Given the description of an element on the screen output the (x, y) to click on. 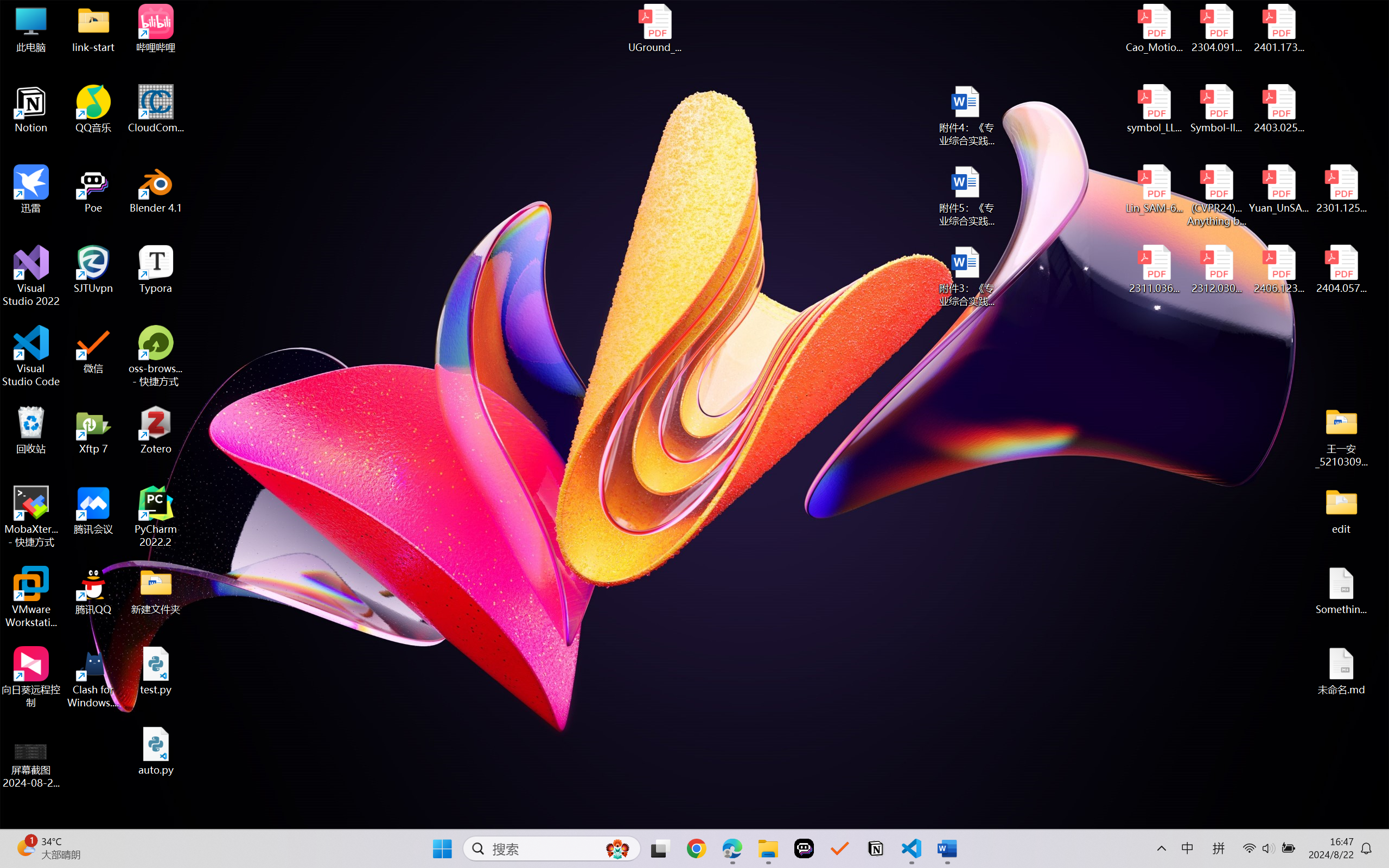
Symbol-llm-v2.pdf (1216, 109)
2311.03658v2.pdf (1154, 269)
2401.17399v1.pdf (1278, 28)
Typora (156, 269)
VMware Workstation Pro (31, 597)
2312.03032v2.pdf (1216, 269)
